Given the description of an element on the screen output the (x, y) to click on. 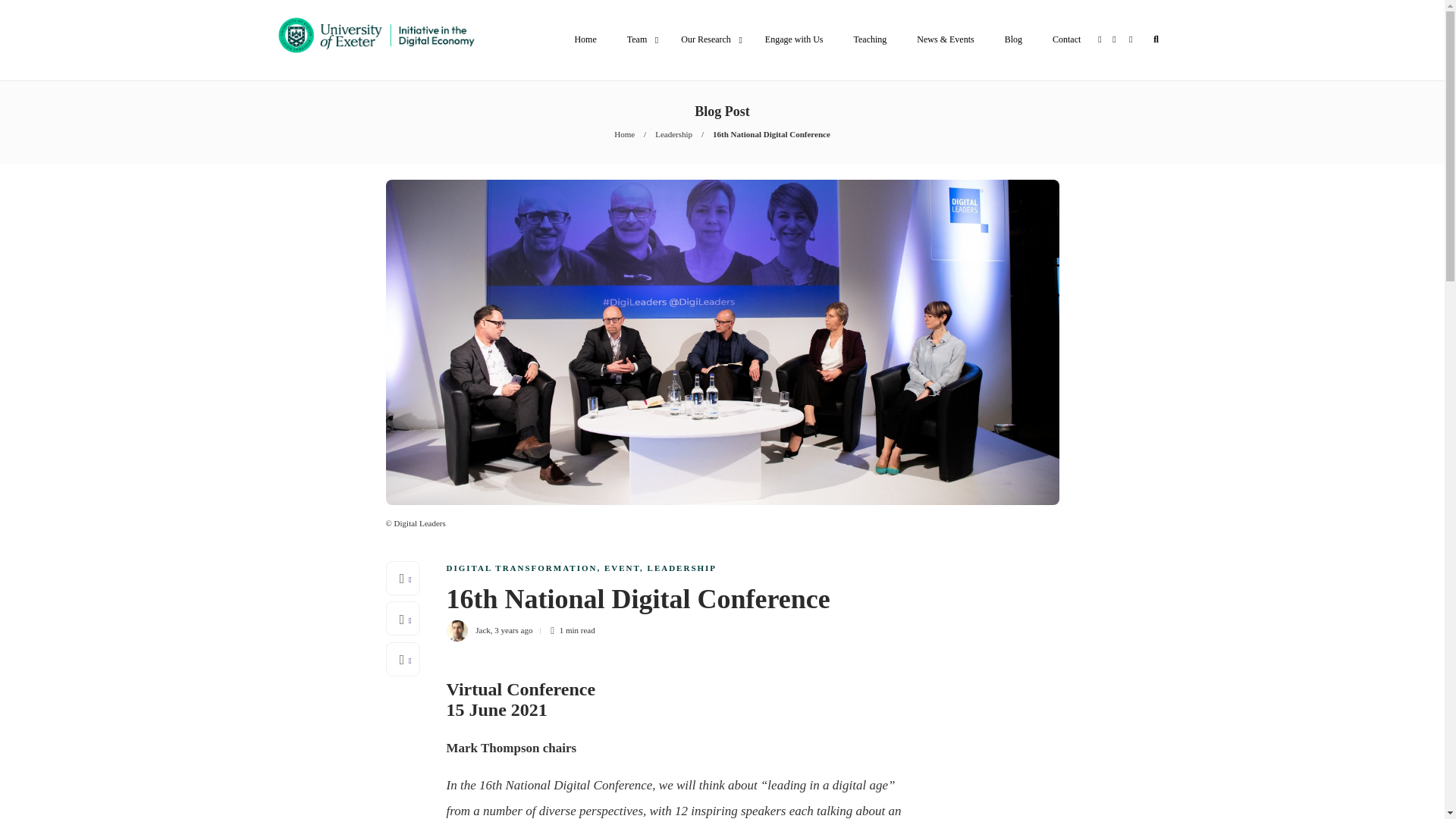
Home (624, 133)
16th National Digital Conference (771, 133)
Home (585, 39)
Team (638, 39)
